Given the description of an element on the screen output the (x, y) to click on. 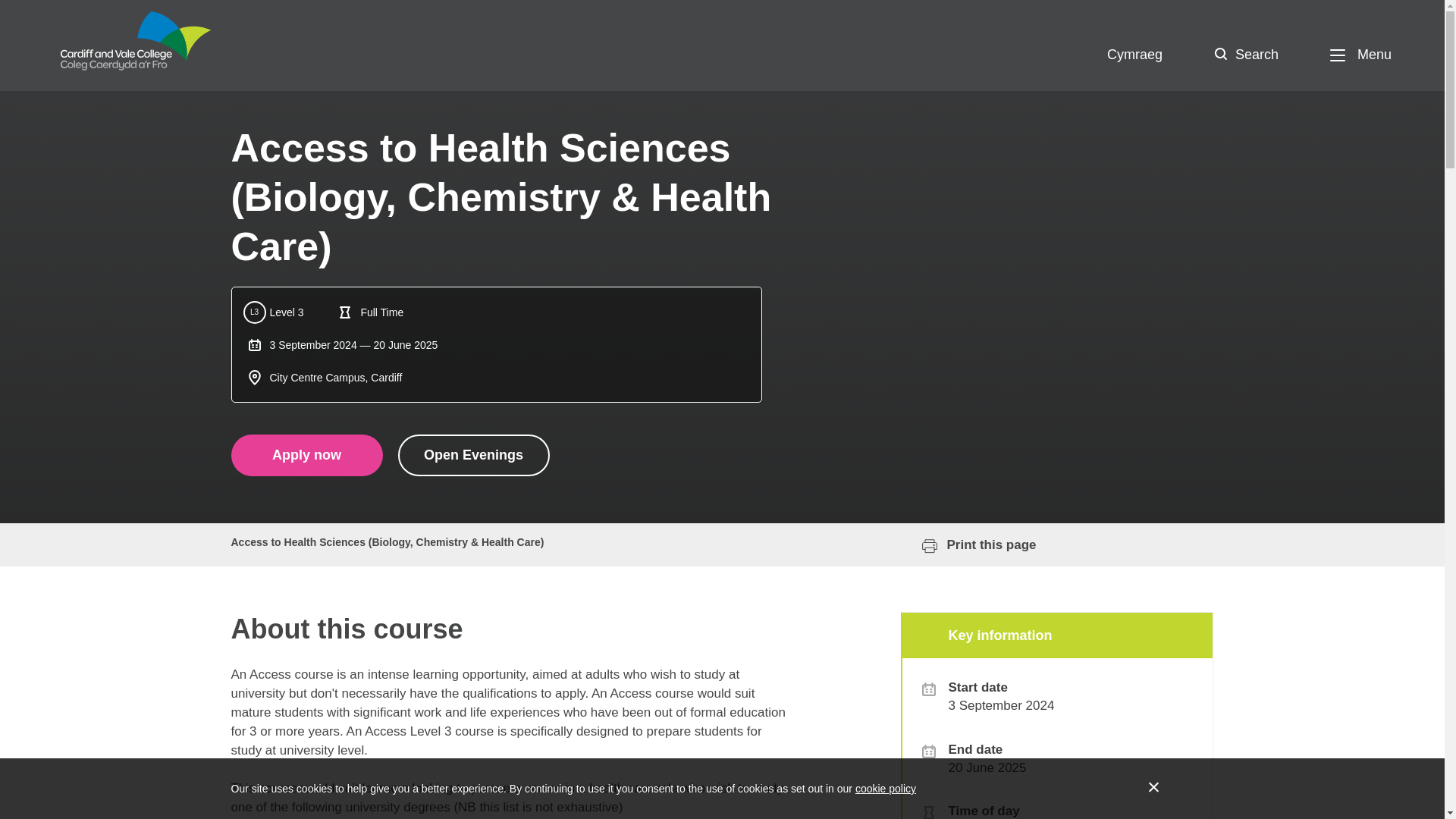
Print this page (971, 544)
Apply now (305, 454)
Open Evenings (472, 454)
Cymraeg (1133, 54)
Open Evenings (472, 454)
